Given the description of an element on the screen output the (x, y) to click on. 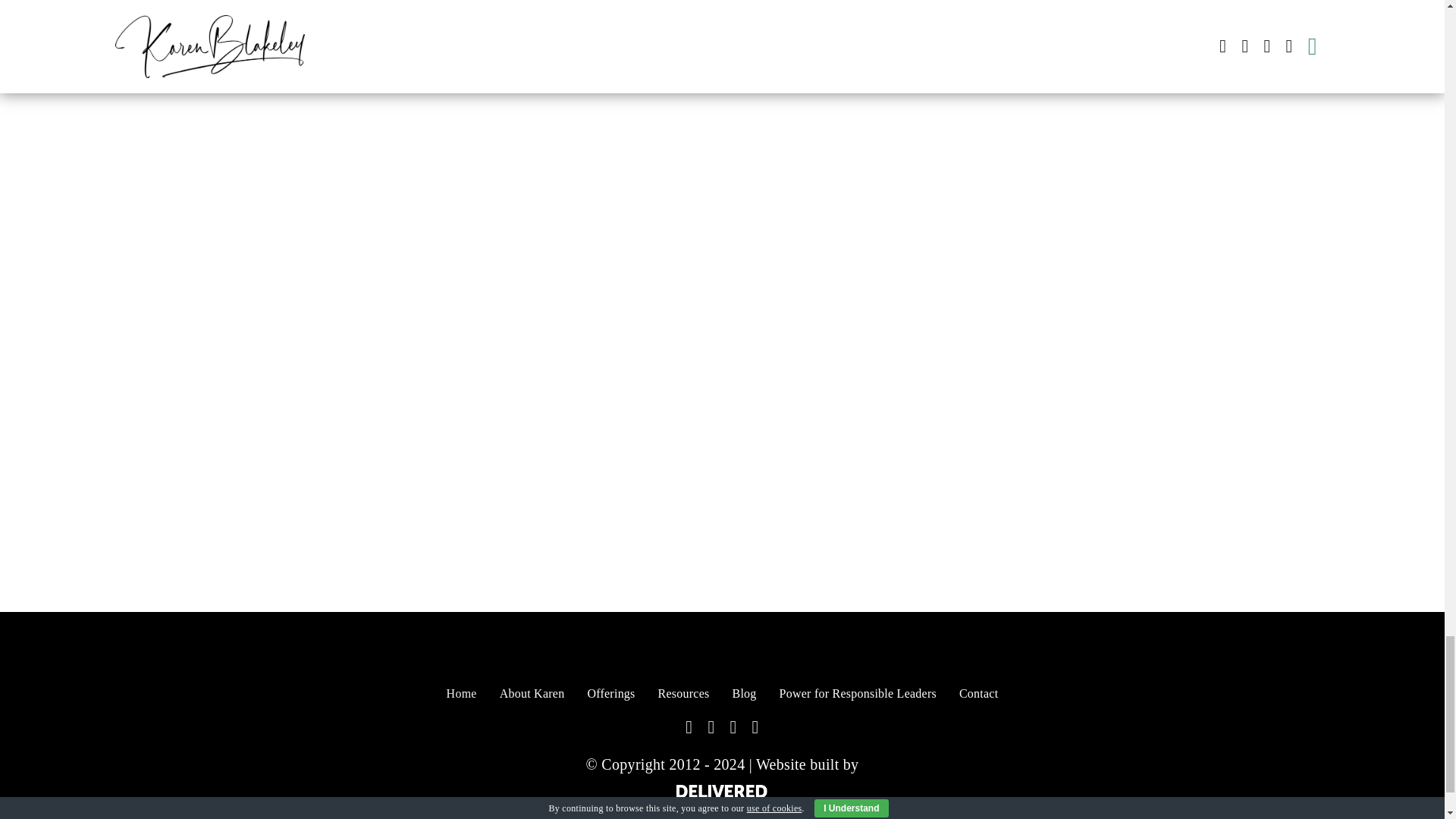
About Karen (531, 693)
Resources (684, 693)
Power for Responsible Leaders (857, 693)
Offerings (610, 693)
